Given the description of an element on the screen output the (x, y) to click on. 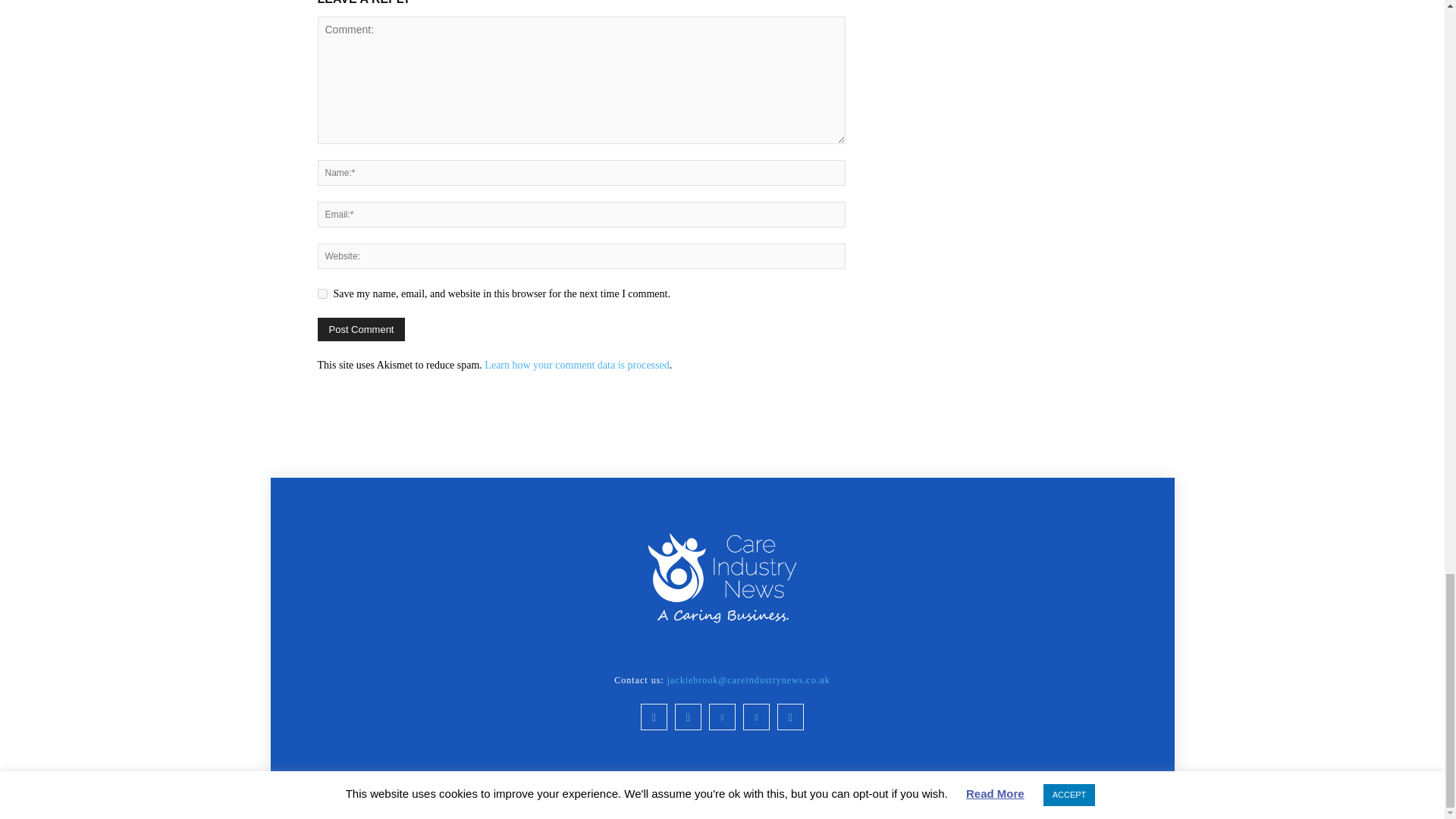
Post Comment (360, 329)
yes (321, 293)
